Given the description of an element on the screen output the (x, y) to click on. 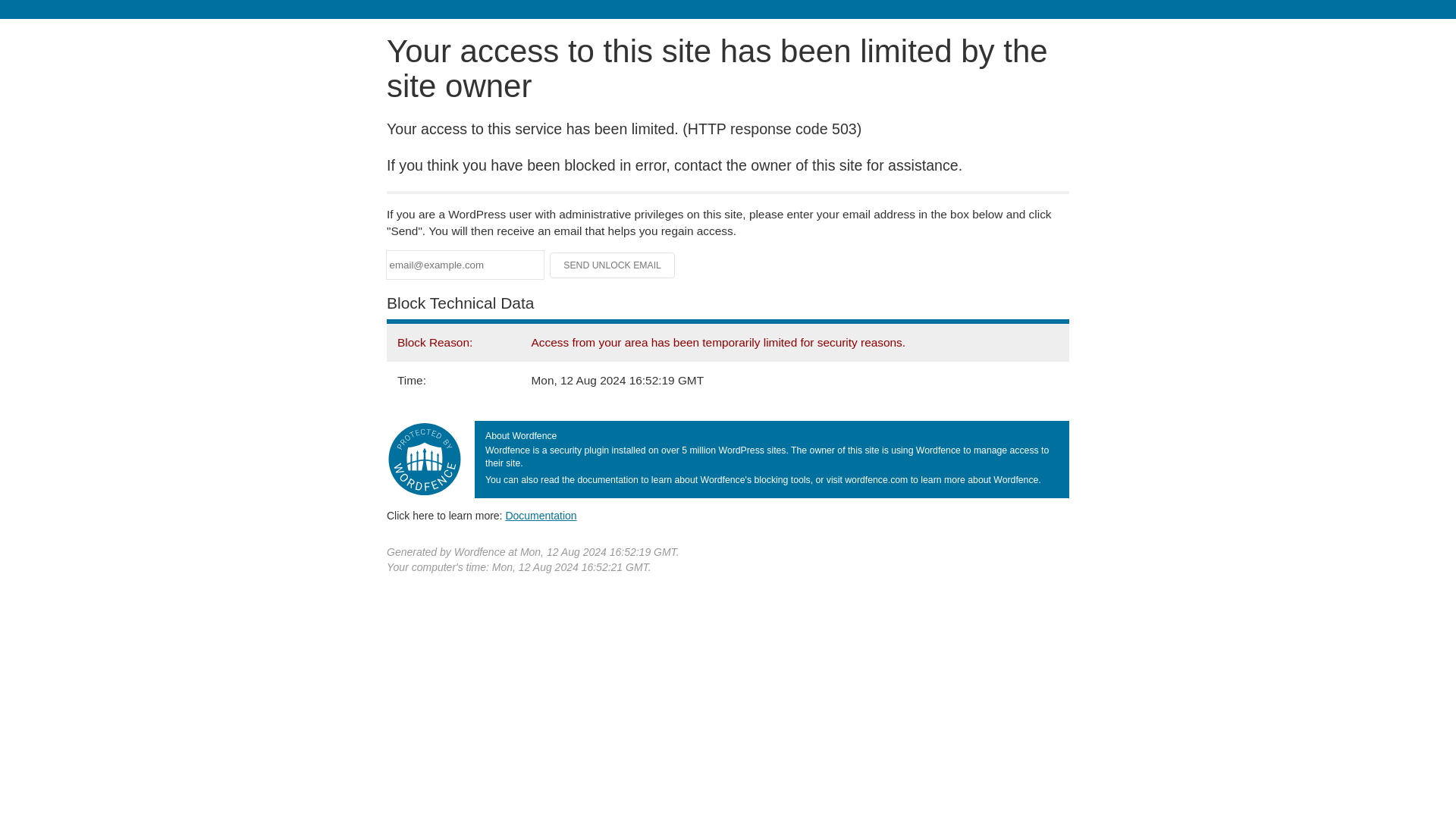
Send Unlock Email (612, 265)
Send Unlock Email (612, 265)
Documentation (540, 515)
